Given the description of an element on the screen output the (x, y) to click on. 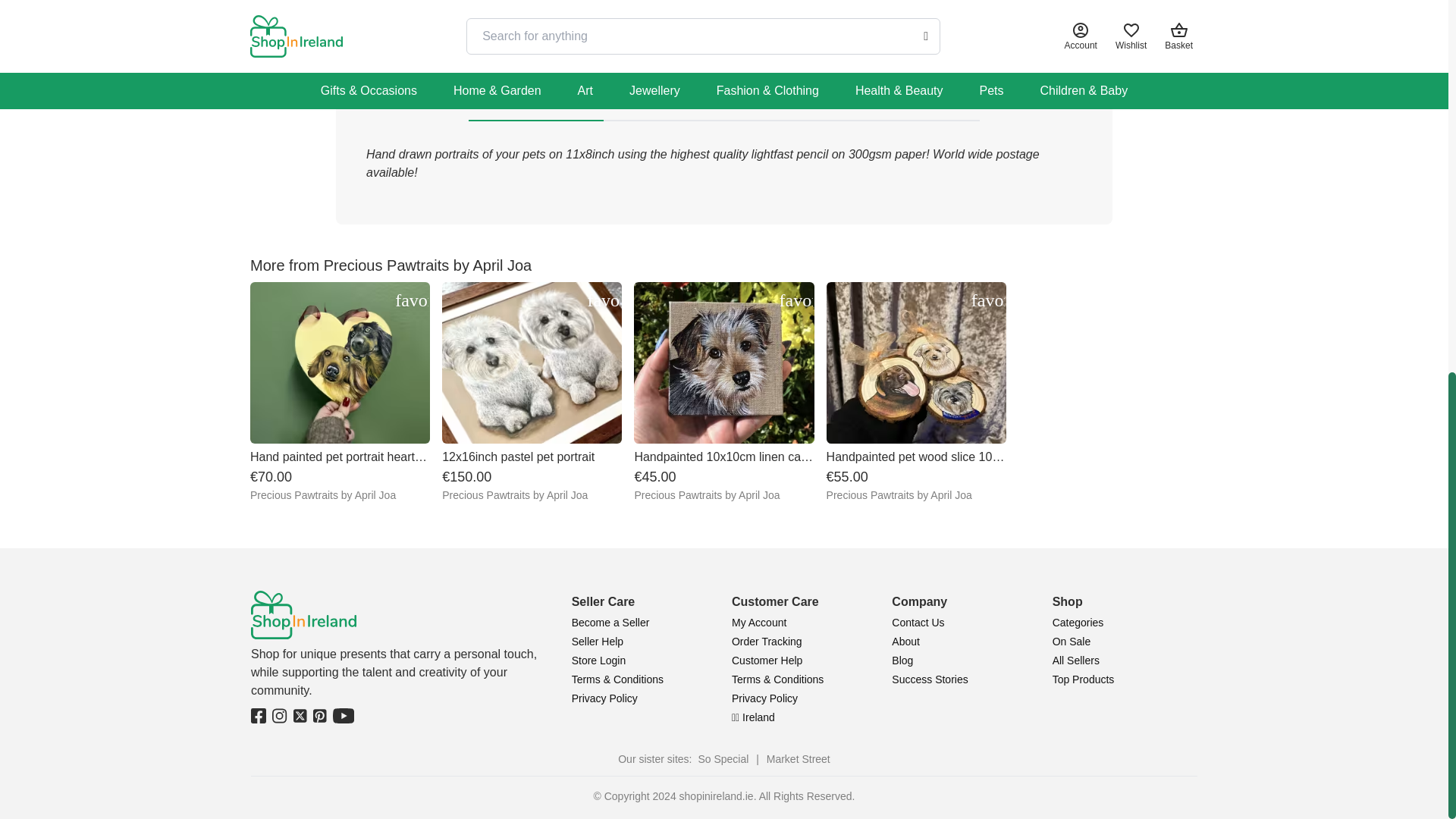
Add product to wishlist (411, 299)
Hand painted pet portrait heart plaque 20cm (339, 391)
Handpainted 10x10cm linen canvas board pet portrait (723, 391)
12x16inch pastel pet portrait (531, 391)
Become a Seller (610, 622)
Add product to wishlist (603, 299)
Handpainted pet wood slice 10cm (916, 391)
Add product to wishlist (987, 299)
Add product to wishlist (795, 299)
